Given the description of an element on the screen output the (x, y) to click on. 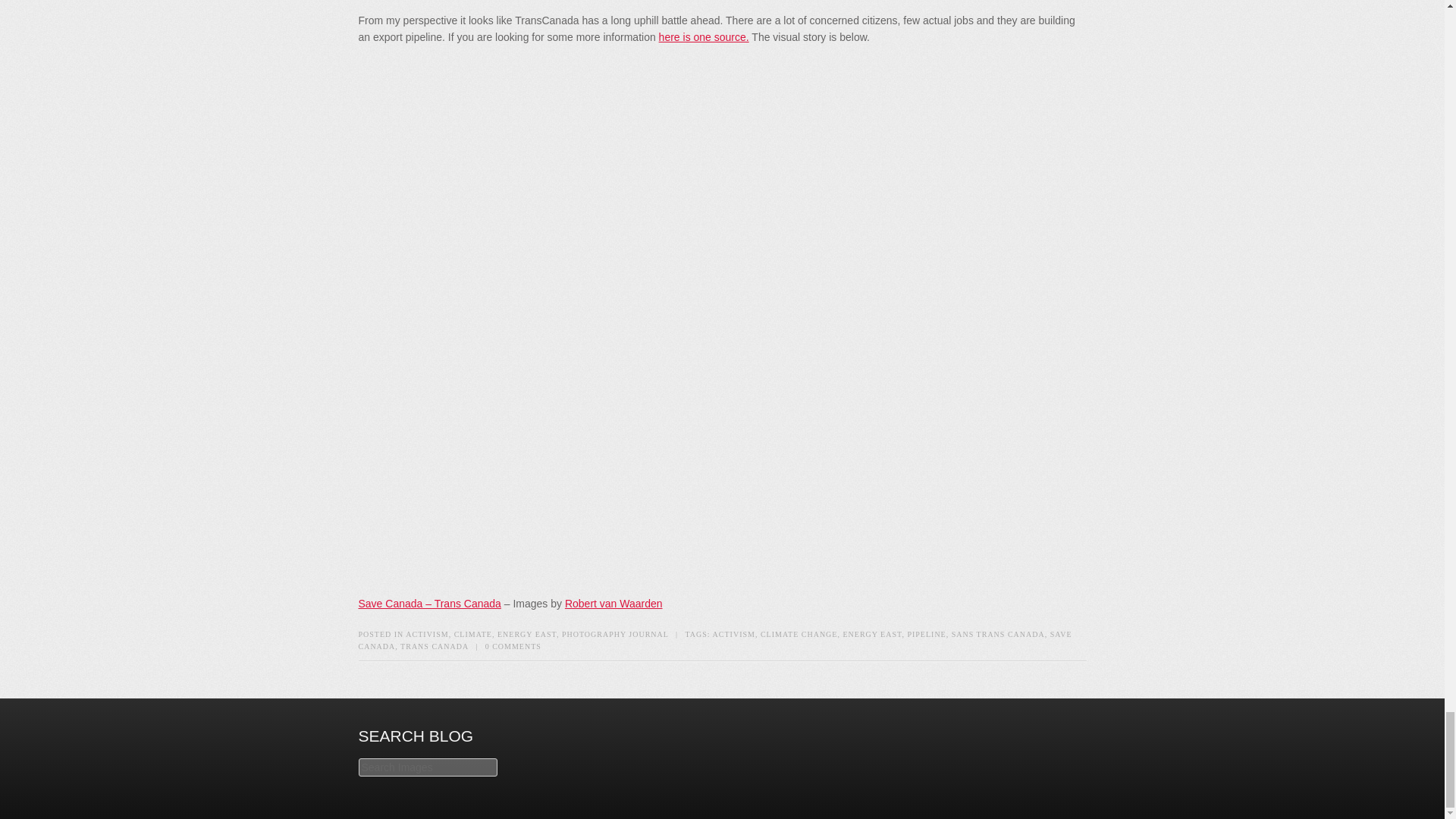
Search Images (427, 767)
